Given the description of an element on the screen output the (x, y) to click on. 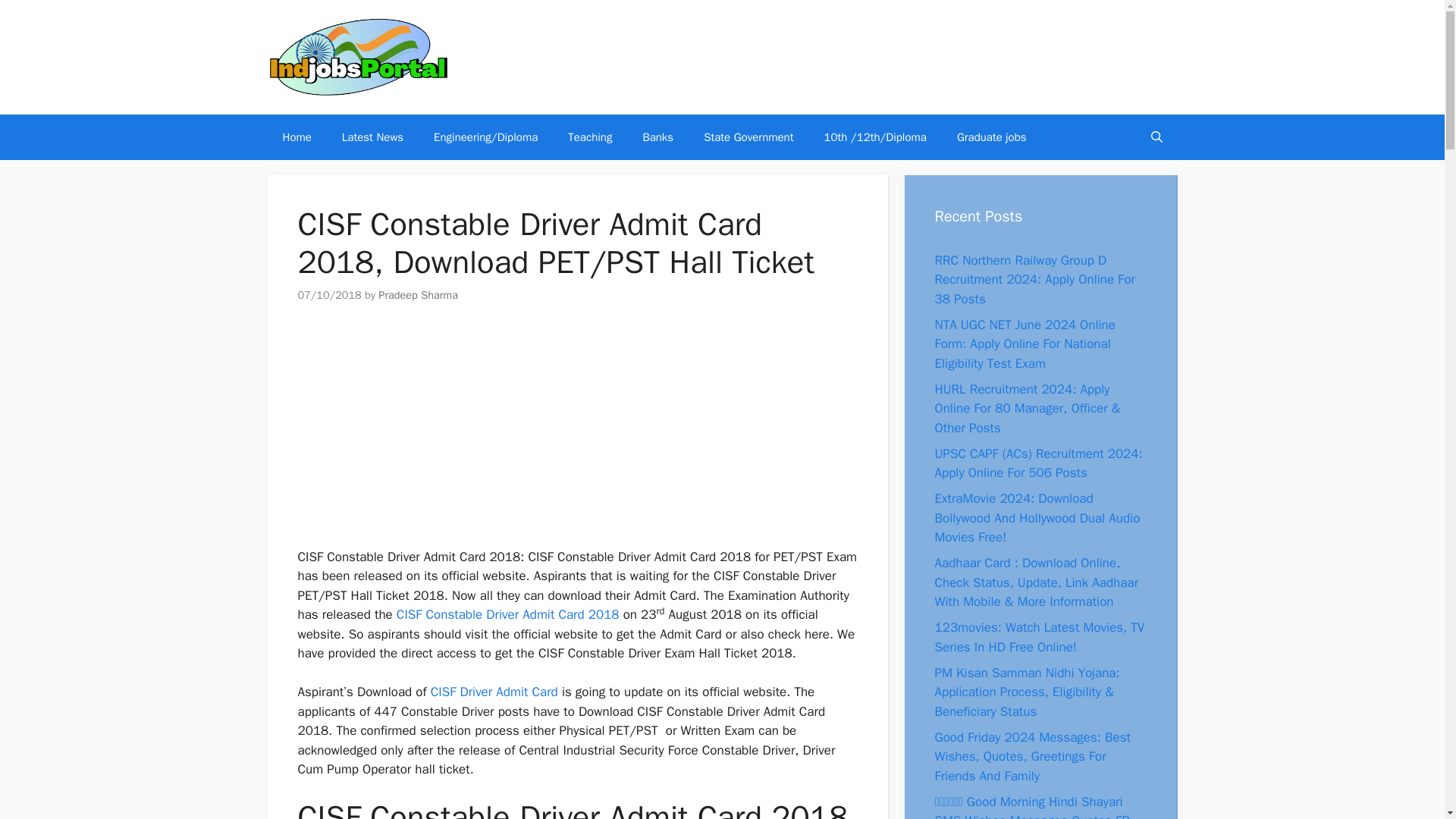
Graduate jobs (992, 136)
Pradeep Sharma (418, 295)
Banks (657, 136)
Latest News (372, 136)
CISF Constable Driver Admit Card 2018 (508, 614)
Advertisement (576, 435)
CISF Driver Admit Card (493, 691)
